Given the description of an element on the screen output the (x, y) to click on. 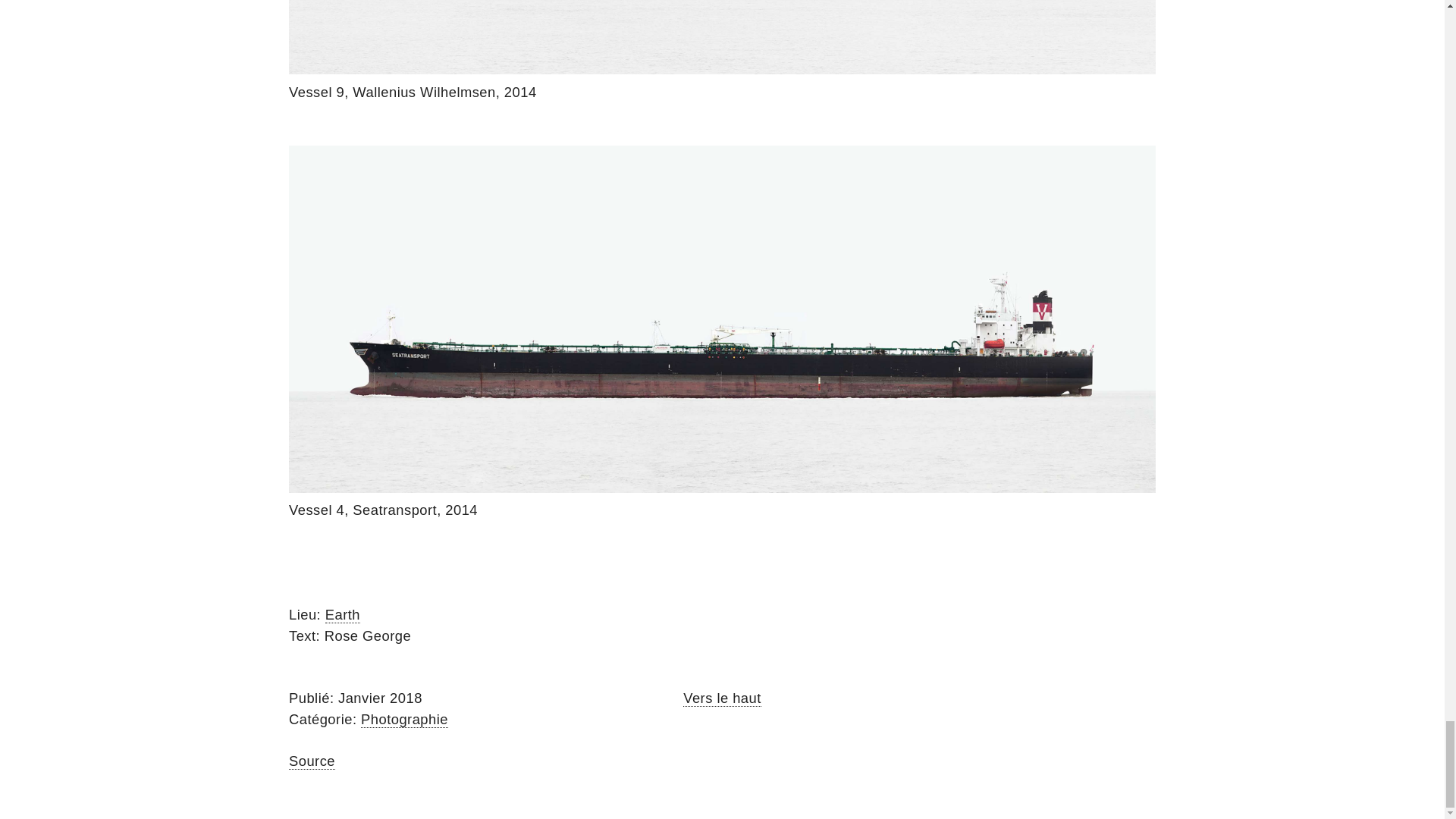
Source (311, 760)
Vers le haut (721, 698)
Photographie (404, 719)
Earth (341, 614)
